Given the description of an element on the screen output the (x, y) to click on. 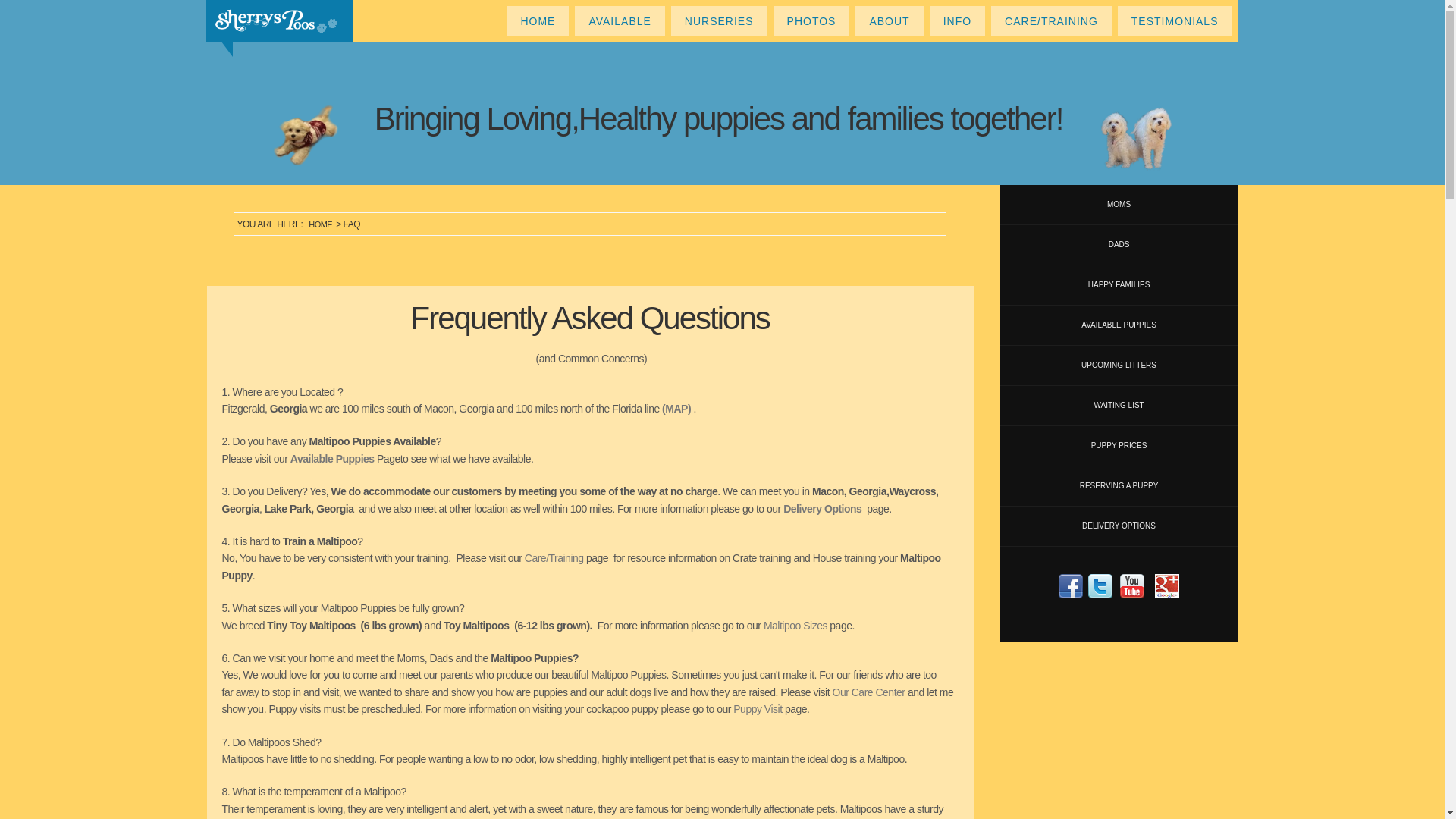
Available Puppies (331, 458)
INFO (956, 19)
AVAILABLE (619, 19)
Sherry's Maltipoos on YouTube (1131, 586)
ABOUT (889, 19)
DADS (1119, 244)
Like Us On Facebook (1070, 586)
Maltipoo Sizes (794, 625)
Our Care Center (868, 692)
Maltipoos (1133, 137)
Delivery Options (822, 508)
HOME (537, 19)
Puppy Visit (757, 708)
Follow Us On Twitter (1099, 586)
MOMS (1119, 204)
